Given the description of an element on the screen output the (x, y) to click on. 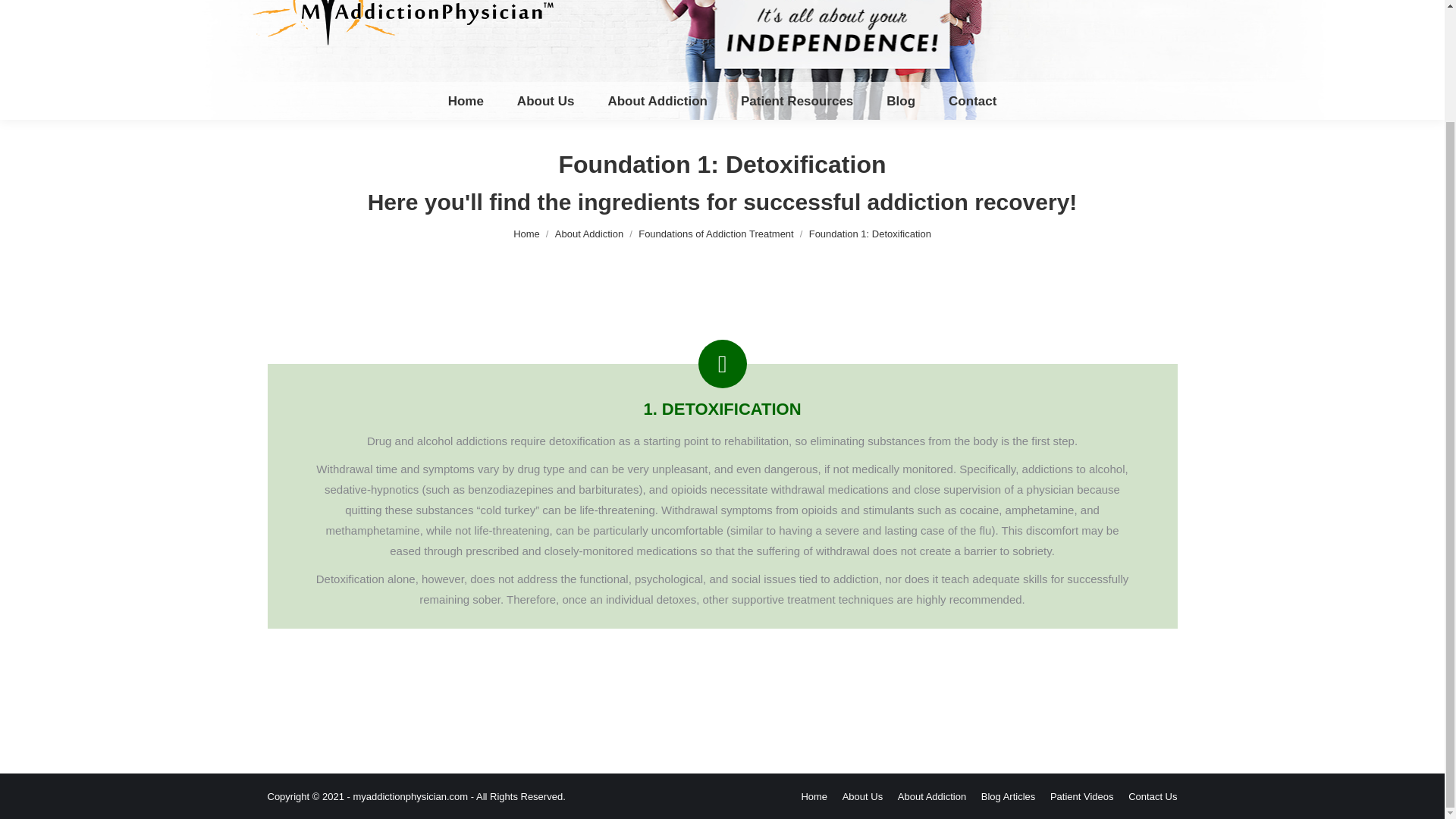
Patient Resources (797, 101)
Blog (900, 101)
About Us (545, 101)
About Us (545, 101)
Home (465, 101)
Contact (972, 101)
About Addiction (657, 101)
Home (465, 101)
